Given the description of an element on the screen output the (x, y) to click on. 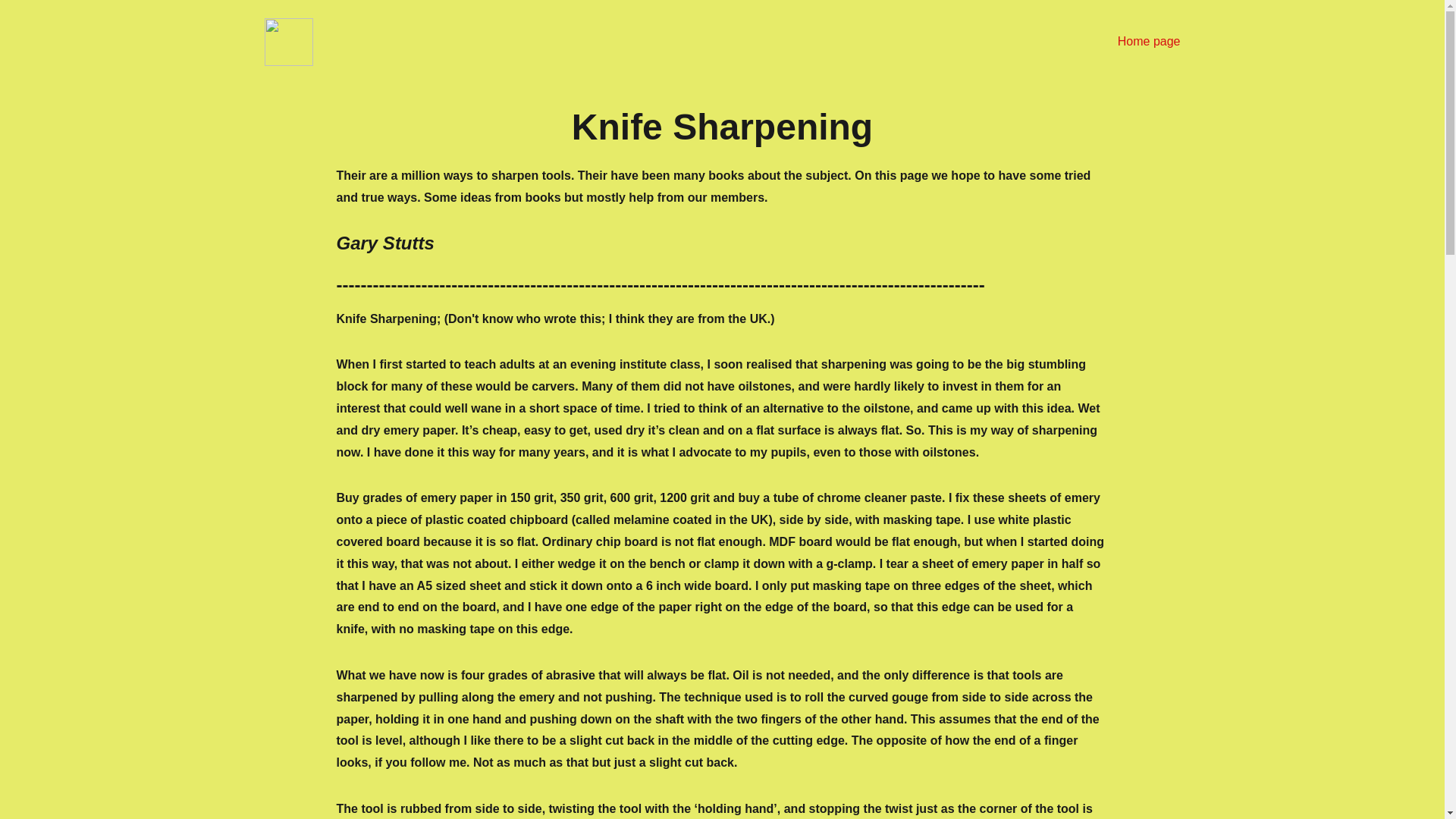
Home page (1149, 42)
